Given the description of an element on the screen output the (x, y) to click on. 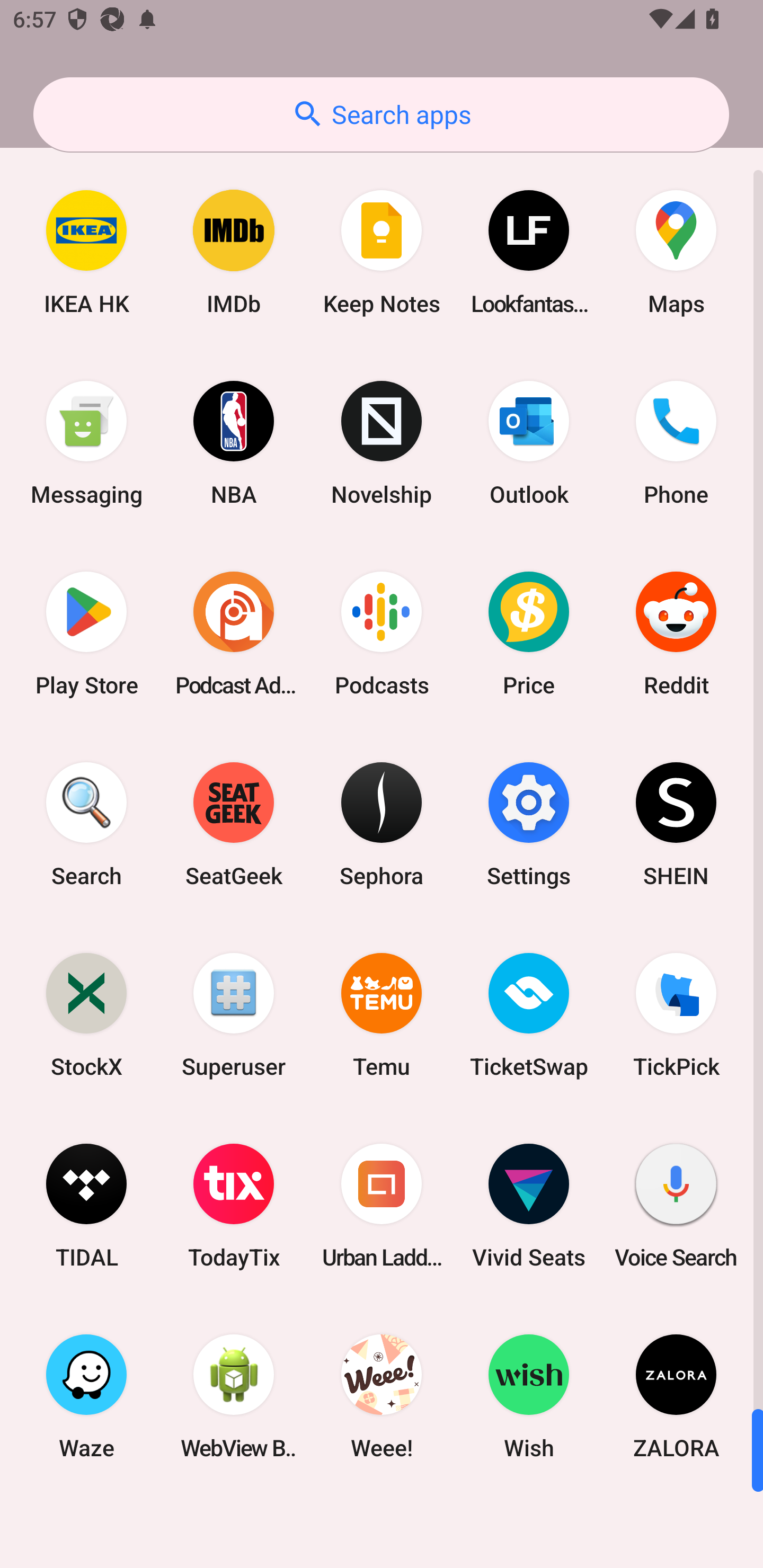
  Search apps (381, 114)
IKEA HK (86, 252)
IMDb (233, 252)
Keep Notes (381, 252)
Lookfantastic (528, 252)
Maps (676, 252)
Messaging (86, 442)
NBA (233, 442)
Novelship (381, 442)
Outlook (528, 442)
Phone (676, 442)
Play Store (86, 633)
Podcast Addict (233, 633)
Podcasts (381, 633)
Price (528, 633)
Reddit (676, 633)
Search (86, 823)
SeatGeek (233, 823)
Sephora (381, 823)
Settings (528, 823)
SHEIN (676, 823)
StockX (86, 1014)
Superuser (233, 1014)
Temu (381, 1014)
TicketSwap (528, 1014)
TickPick (676, 1014)
TIDAL (86, 1205)
TodayTix (233, 1205)
Urban Ladder (381, 1205)
Vivid Seats (528, 1205)
Voice Search (676, 1205)
Waze (86, 1396)
WebView Browser Tester (233, 1396)
Weee! (381, 1396)
Wish (528, 1396)
ZALORA (676, 1396)
